Given the description of an element on the screen output the (x, y) to click on. 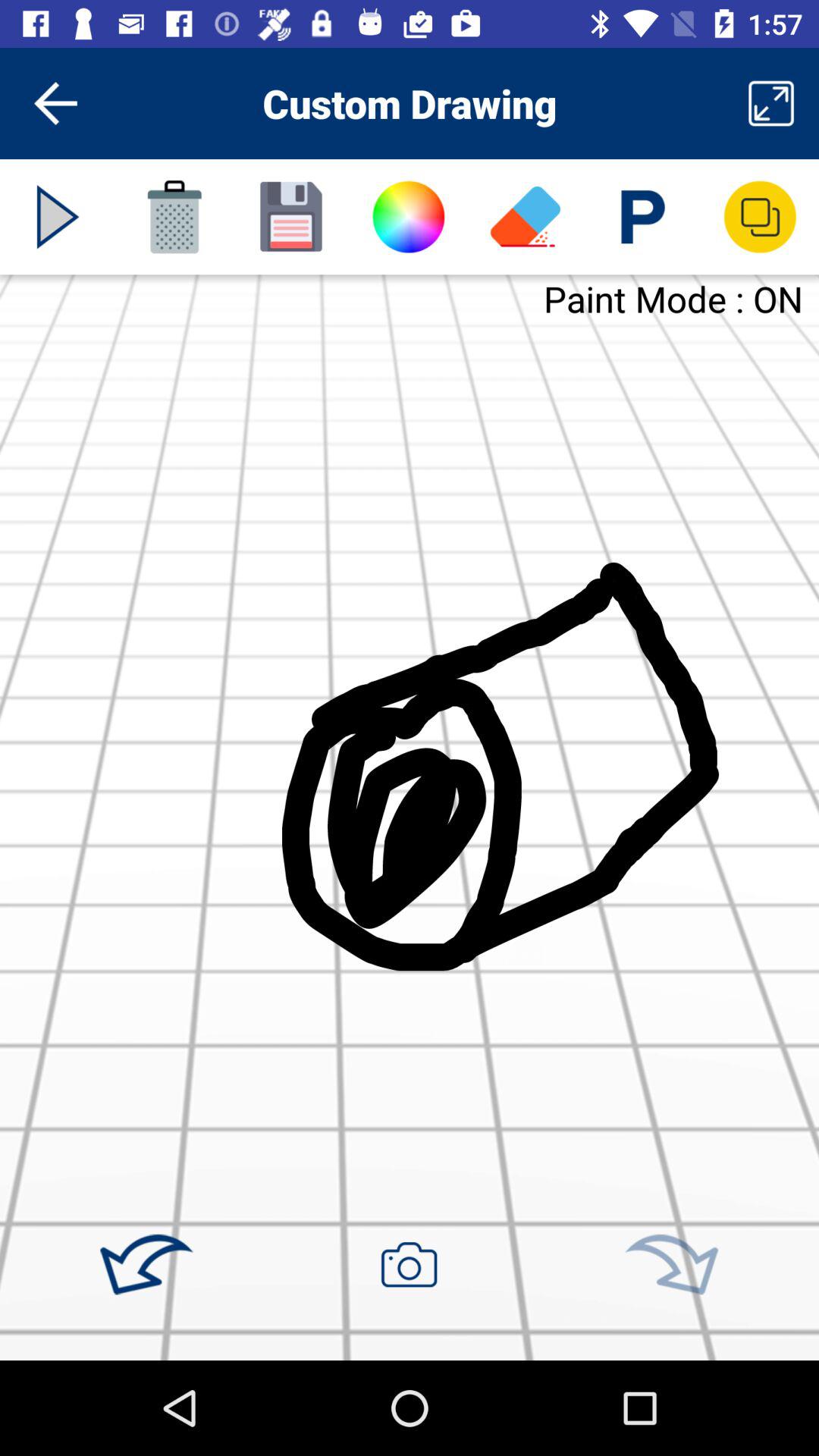
press item to the left of custom drawing icon (55, 103)
